Given the description of an element on the screen output the (x, y) to click on. 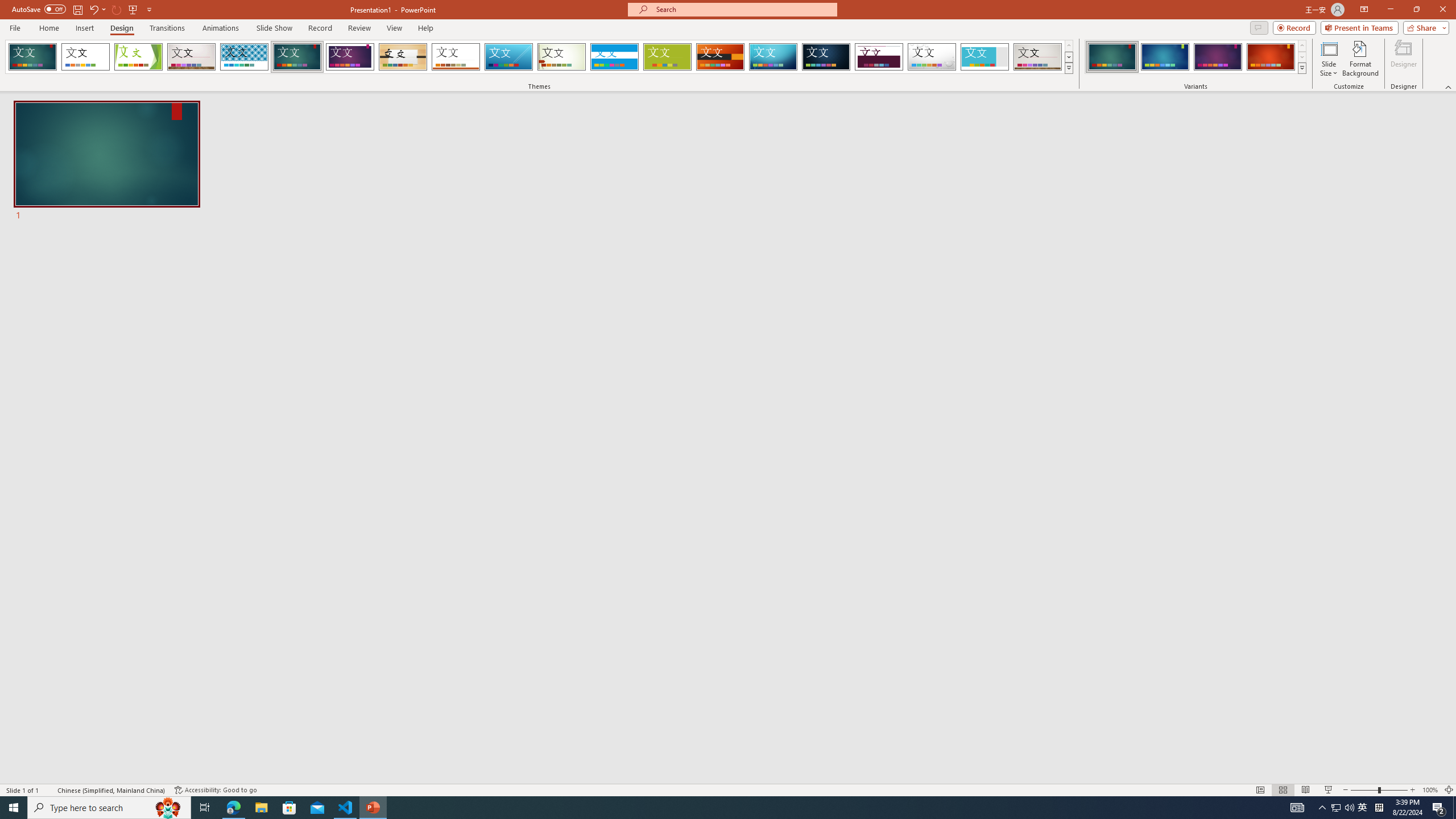
Integral Loading Preview... (244, 56)
Wisp Loading Preview... (561, 56)
Gallery Loading Preview... (1037, 56)
Circuit Loading Preview... (772, 56)
